Given the description of an element on the screen output the (x, y) to click on. 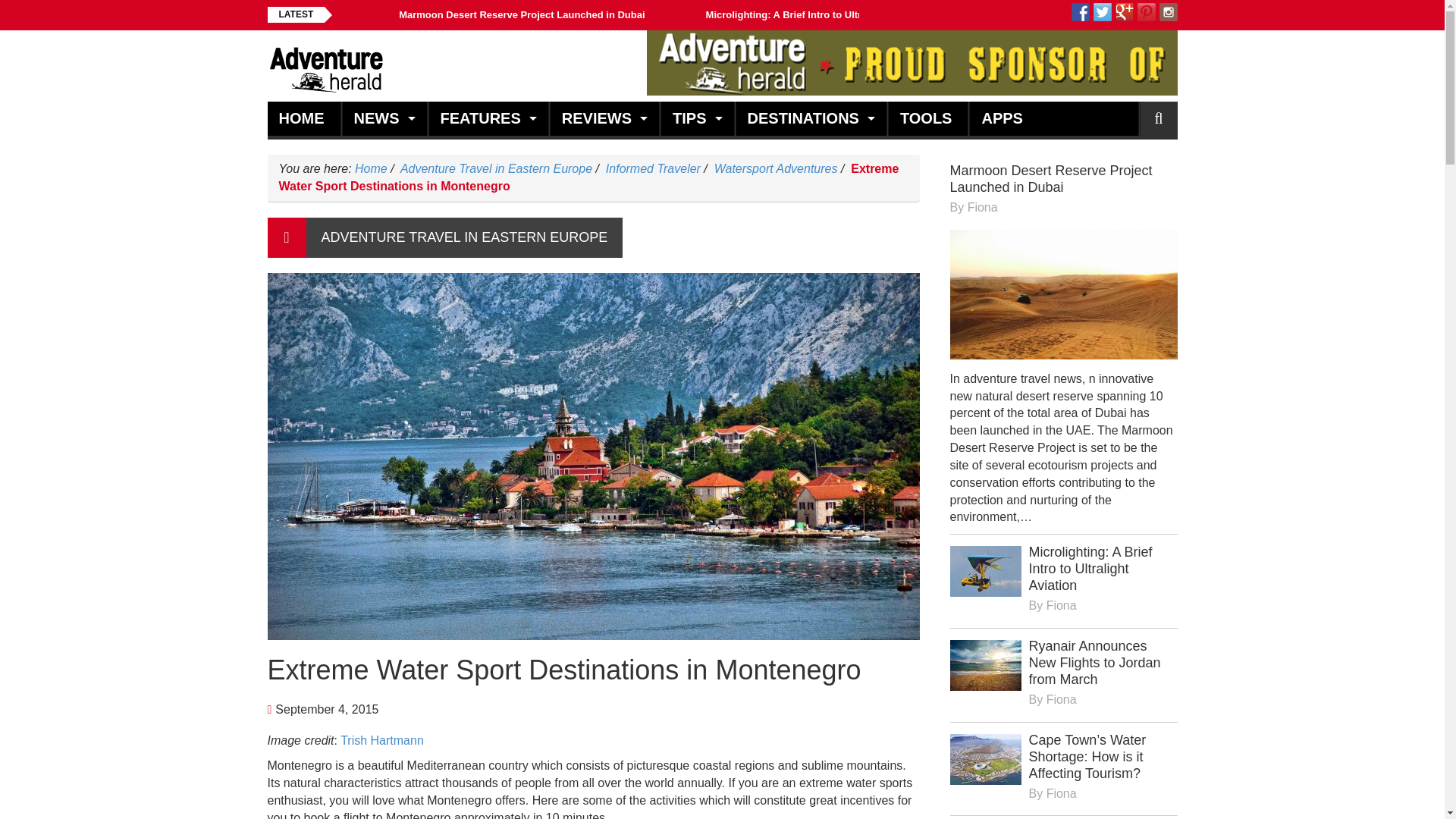
Microlighting: A Brief Intro to Ultralight Aviation (817, 14)
Check out our instagram feed (1167, 12)
Our board on Pinterest (1146, 12)
Marmoon Desert Reserve Project Launched in Dubai (521, 14)
Follow us on Twitter (1102, 12)
HOME (304, 118)
Follow us on Facebook (1079, 12)
FEATURES (481, 118)
NEWS (378, 118)
